Given the description of an element on the screen output the (x, y) to click on. 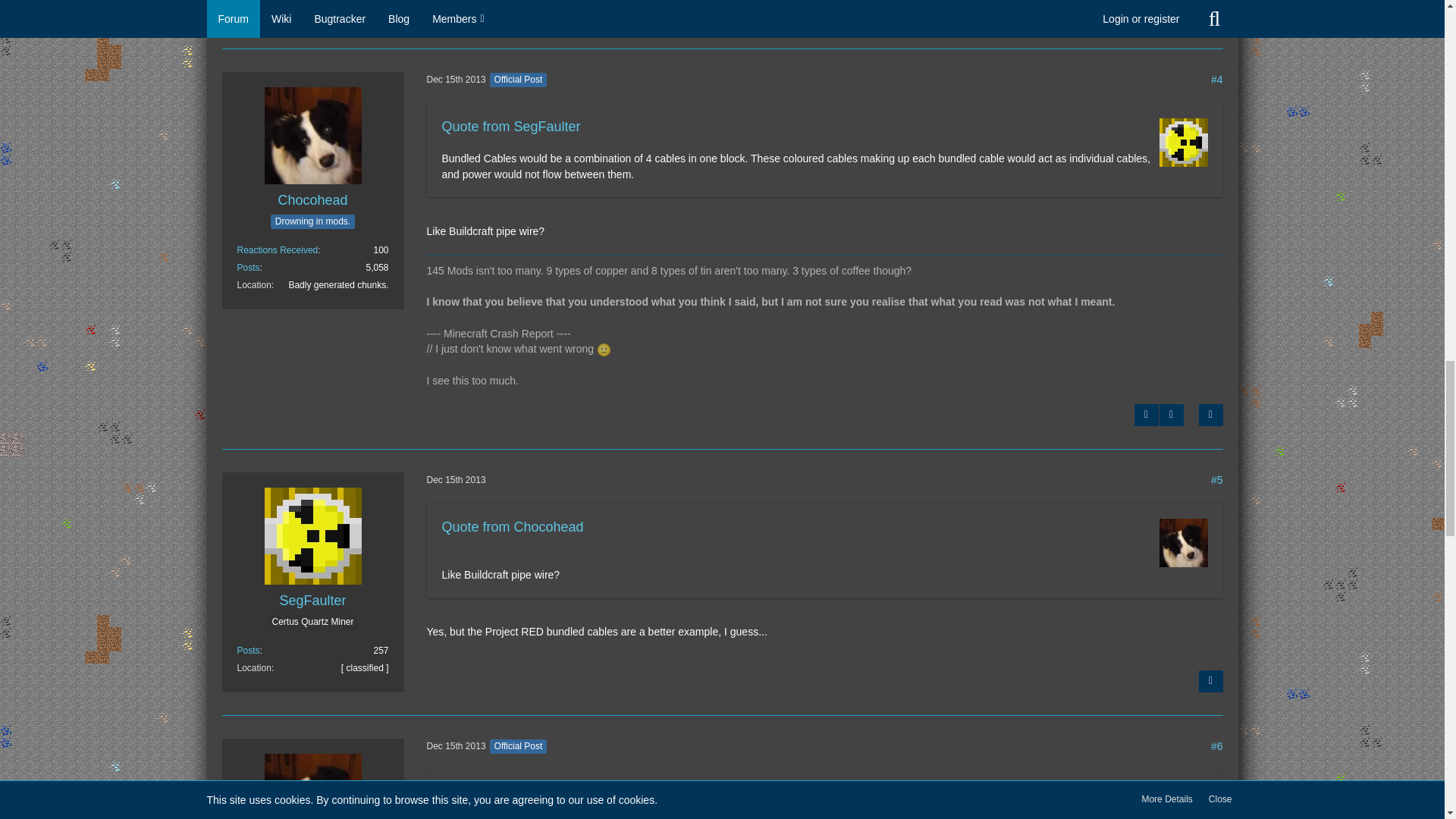
sad (603, 349)
